Given the description of an element on the screen output the (x, y) to click on. 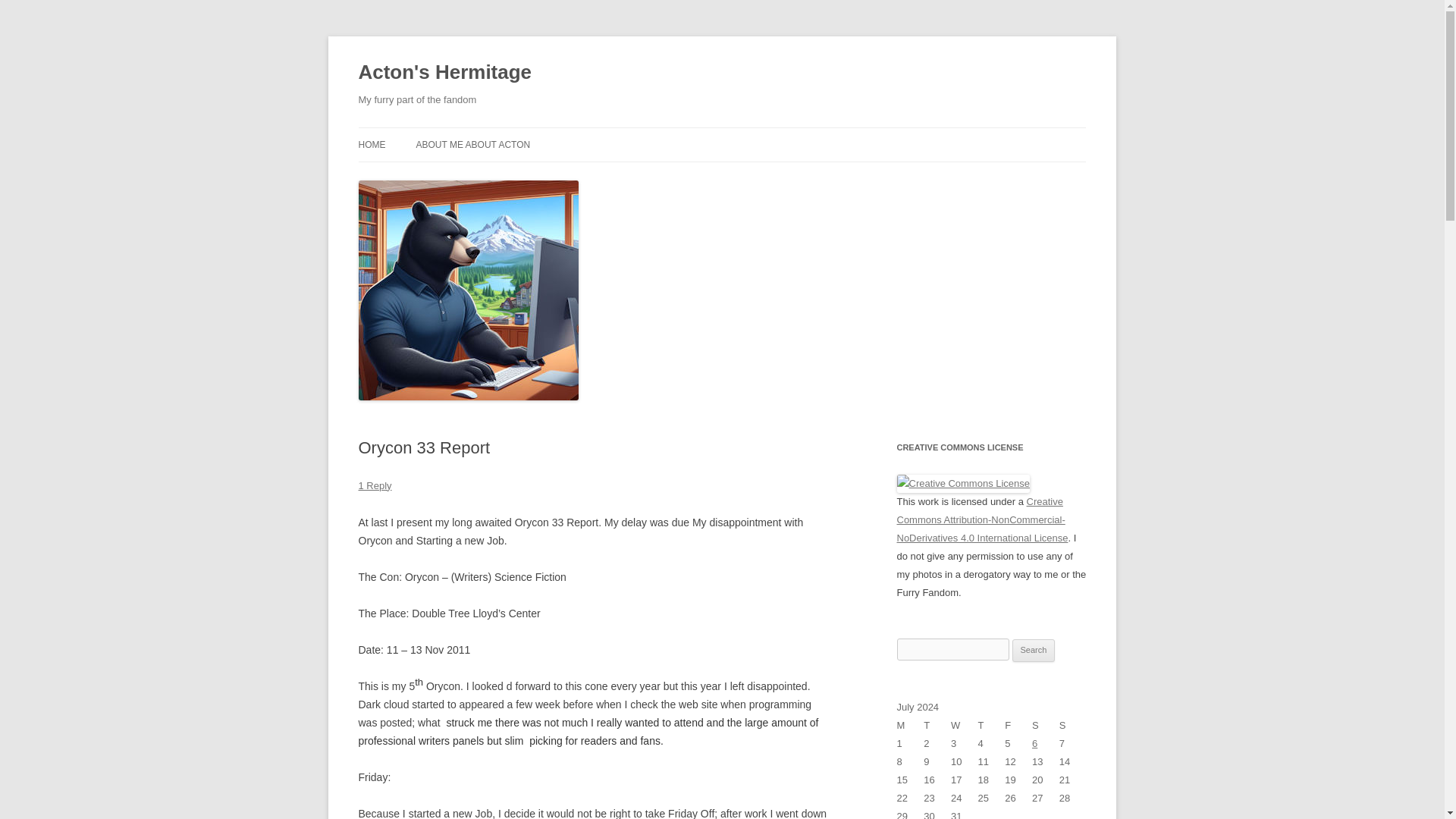
Tuesday (936, 725)
1 Reply (374, 485)
Search (1033, 650)
Saturday (1045, 725)
Monday (909, 725)
Search (1033, 650)
Friday (1018, 725)
Sunday (1072, 725)
Thursday (992, 725)
ABOUT ME ABOUT ACTON (471, 144)
Acton's Hermitage (444, 72)
Wednesday (964, 725)
